Given the description of an element on the screen output the (x, y) to click on. 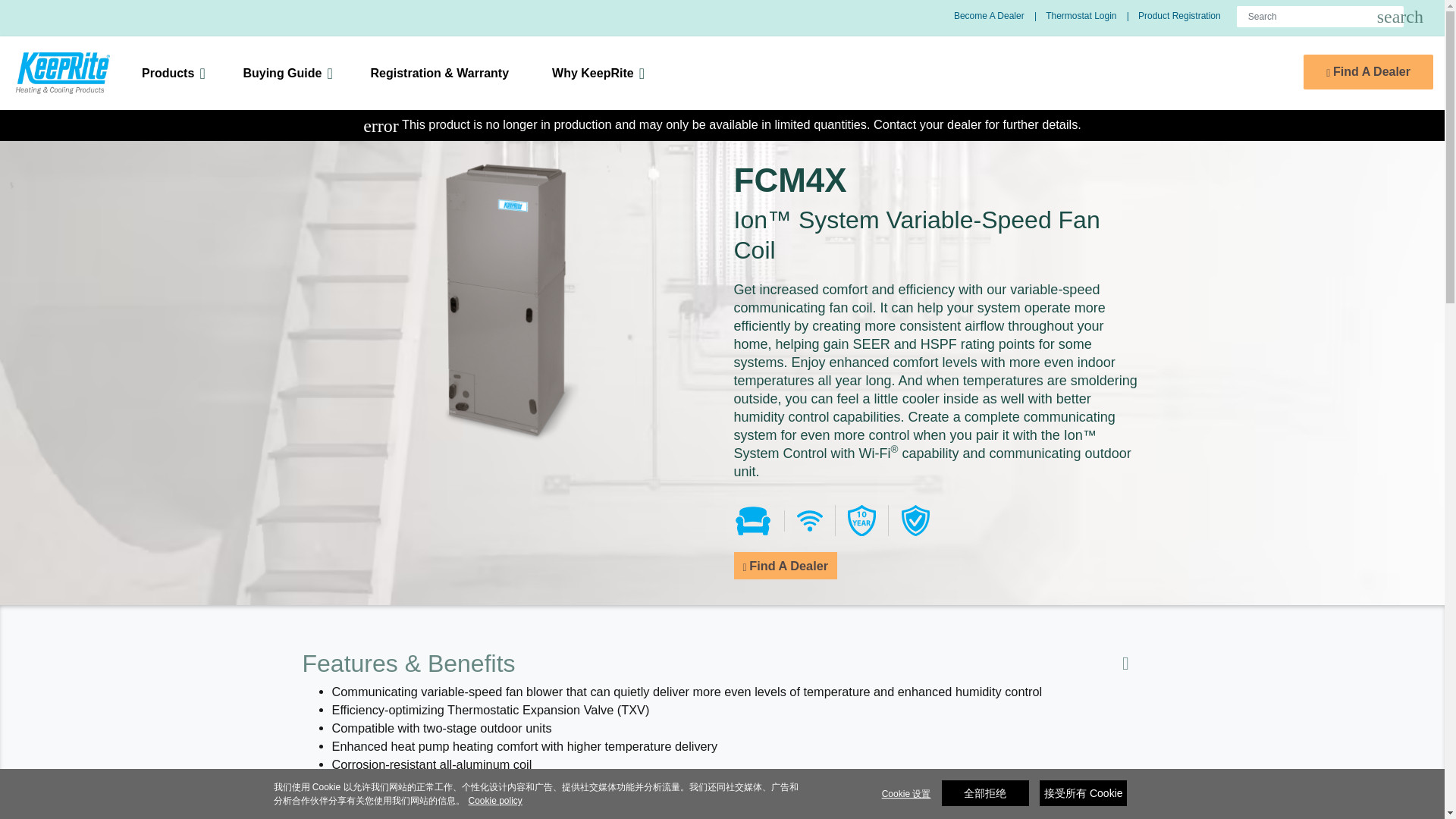
Become A Dealer (176, 72)
Thermostat Login (999, 15)
Product Registration (600, 72)
